Given the description of an element on the screen output the (x, y) to click on. 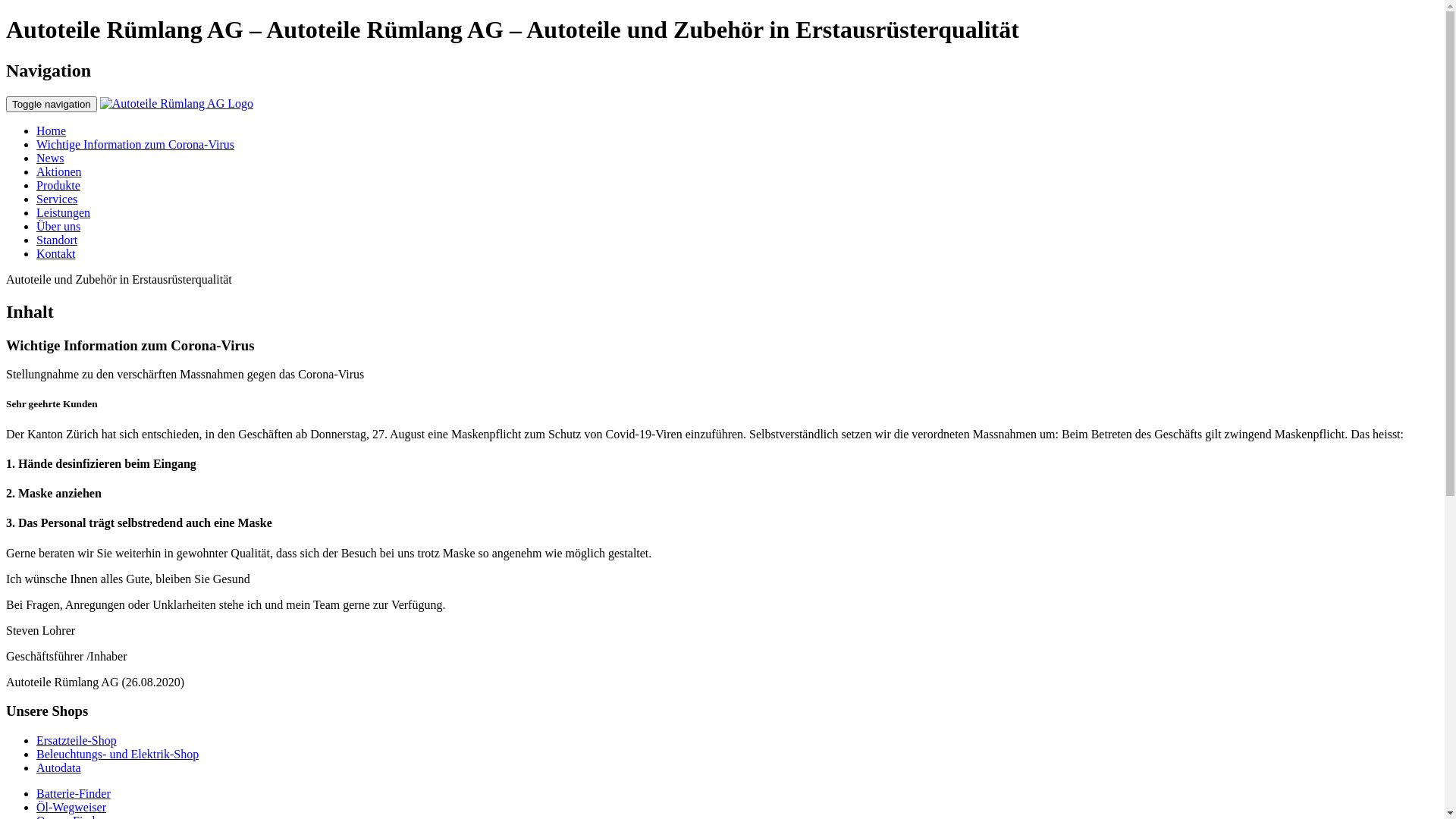
Toggle navigation Element type: text (51, 104)
Batterie-Finder Element type: text (73, 793)
Produkte Element type: text (58, 184)
Services Element type: text (56, 198)
Ersatzteile-Shop Element type: text (76, 740)
Standort Element type: text (56, 239)
Autodata Element type: text (58, 767)
Aktionen Element type: text (58, 171)
Kontakt Element type: text (55, 253)
Wichtige Information zum Corona-Virus Element type: text (135, 144)
News Element type: text (49, 157)
Leistungen Element type: text (63, 212)
Home Element type: text (50, 130)
